Given the description of an element on the screen output the (x, y) to click on. 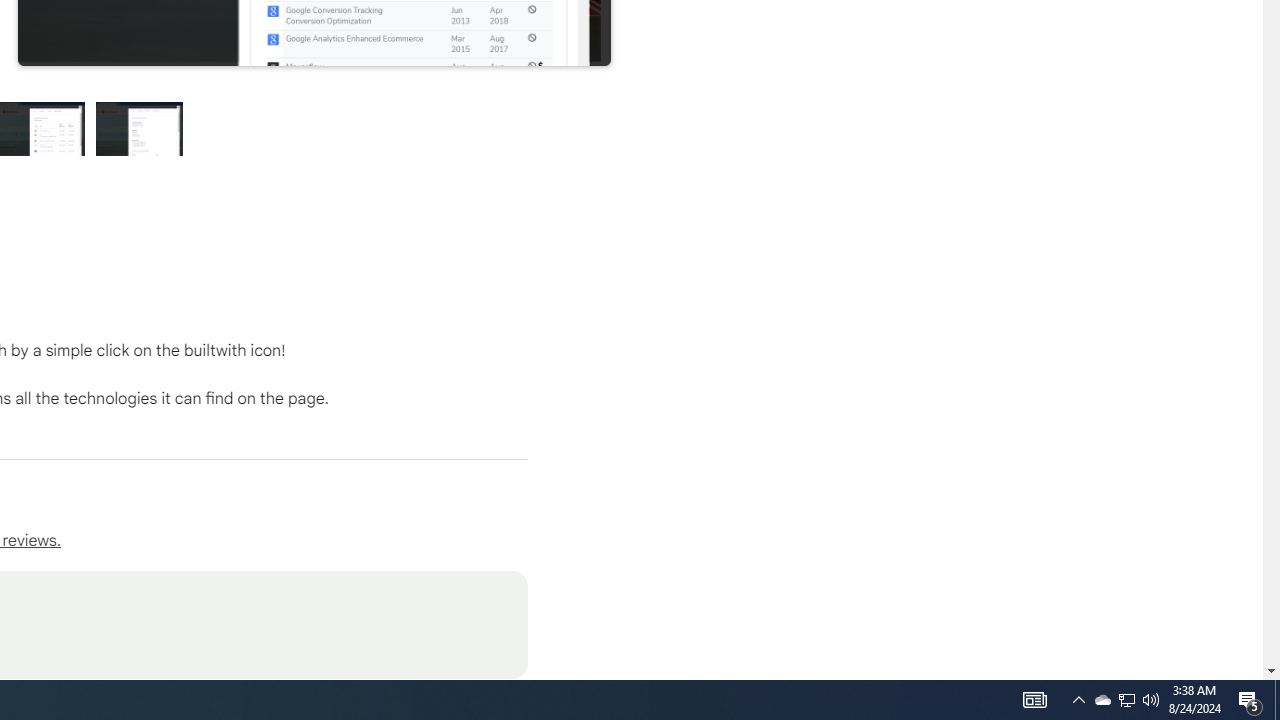
Notification Chevron (1126, 699)
Show desktop (1078, 699)
User Promoted Notification Area (1277, 699)
Q2790: 100% (1126, 699)
Preview slide 4 (1151, 699)
Action Center, 5 new notifications (140, 128)
AutomationID: 4105 (1102, 699)
